Given the description of an element on the screen output the (x, y) to click on. 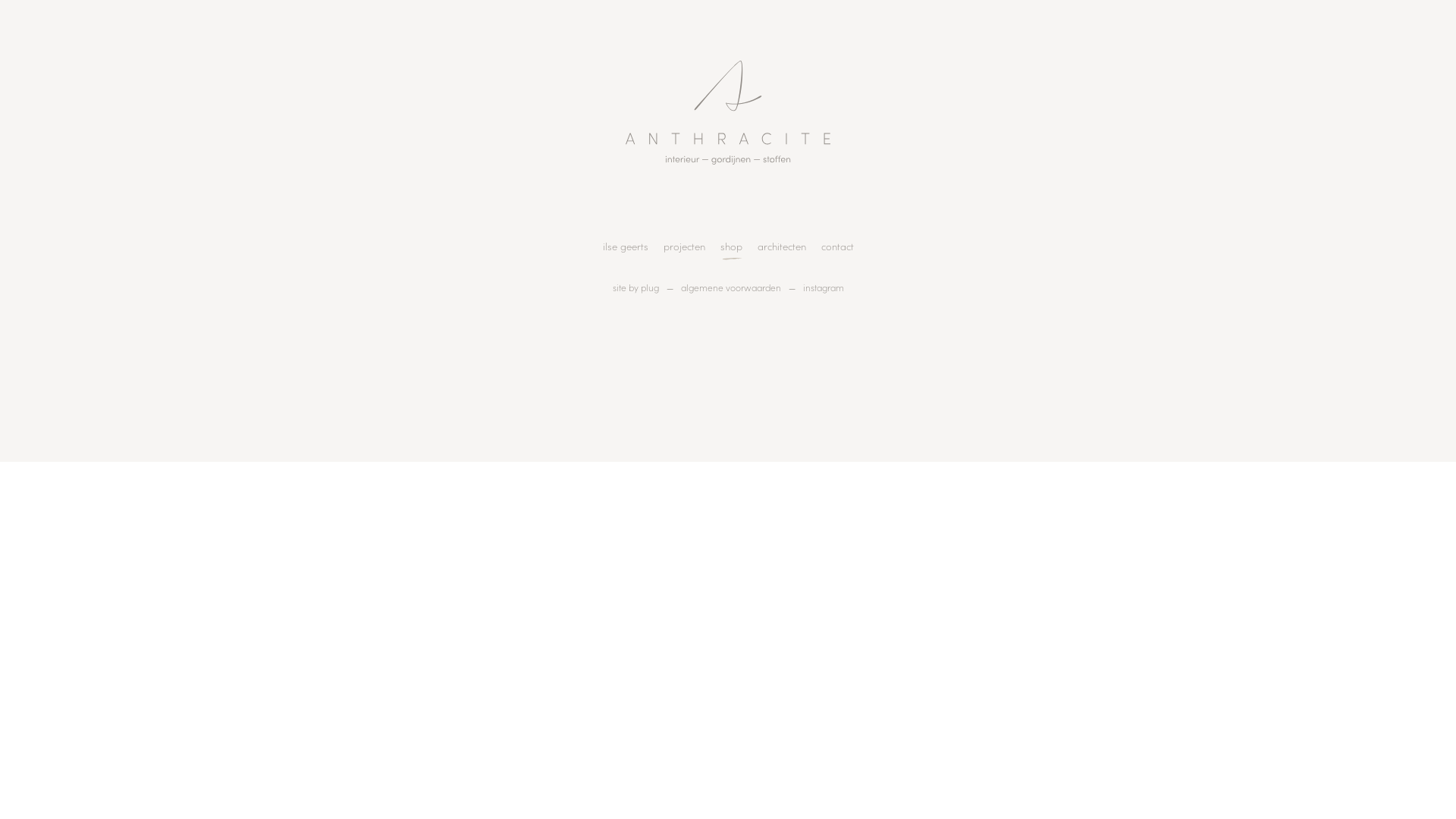
projecten Element type: text (683, 245)
ilse geerts Element type: text (624, 245)
site by plug Element type: text (635, 286)
architecten Element type: text (780, 245)
shop Element type: text (731, 245)
contact Element type: text (836, 245)
instagram Element type: text (822, 286)
algemene voorwaarden Element type: text (730, 286)
